Given the description of an element on the screen output the (x, y) to click on. 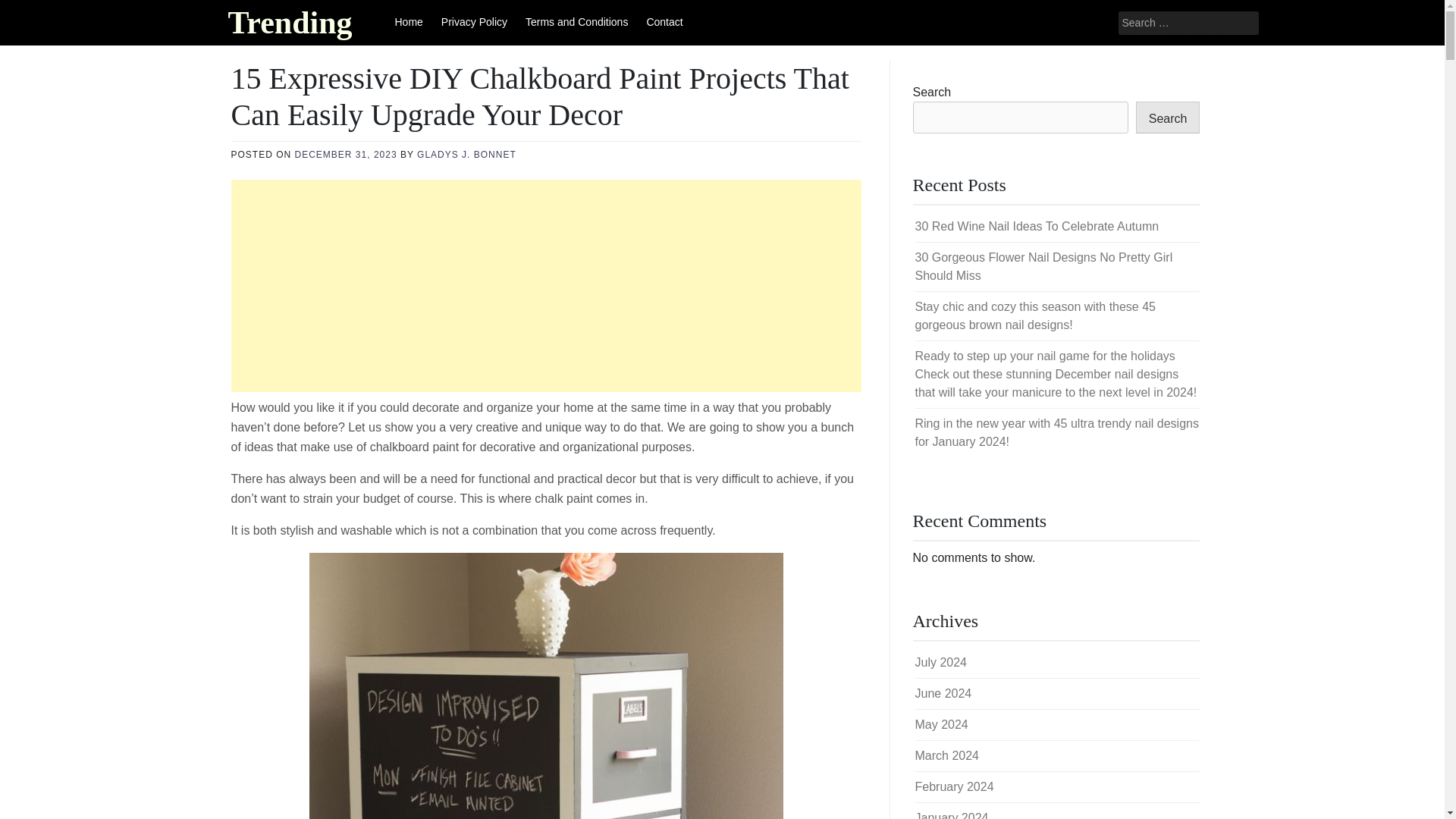
DECEMBER 31, 2023 (346, 154)
Search (1167, 117)
Privacy Policy (474, 23)
Search (32, 12)
Terms and Conditions (576, 23)
May 2024 (941, 724)
GLADYS J. BONNET (466, 154)
March 2024 (946, 755)
January 2024 (951, 815)
July 2024 (940, 662)
Home (407, 23)
February 2024 (953, 786)
30 Gorgeous Flower Nail Designs No Pretty Girl Should Miss (1043, 265)
